Given the description of an element on the screen output the (x, y) to click on. 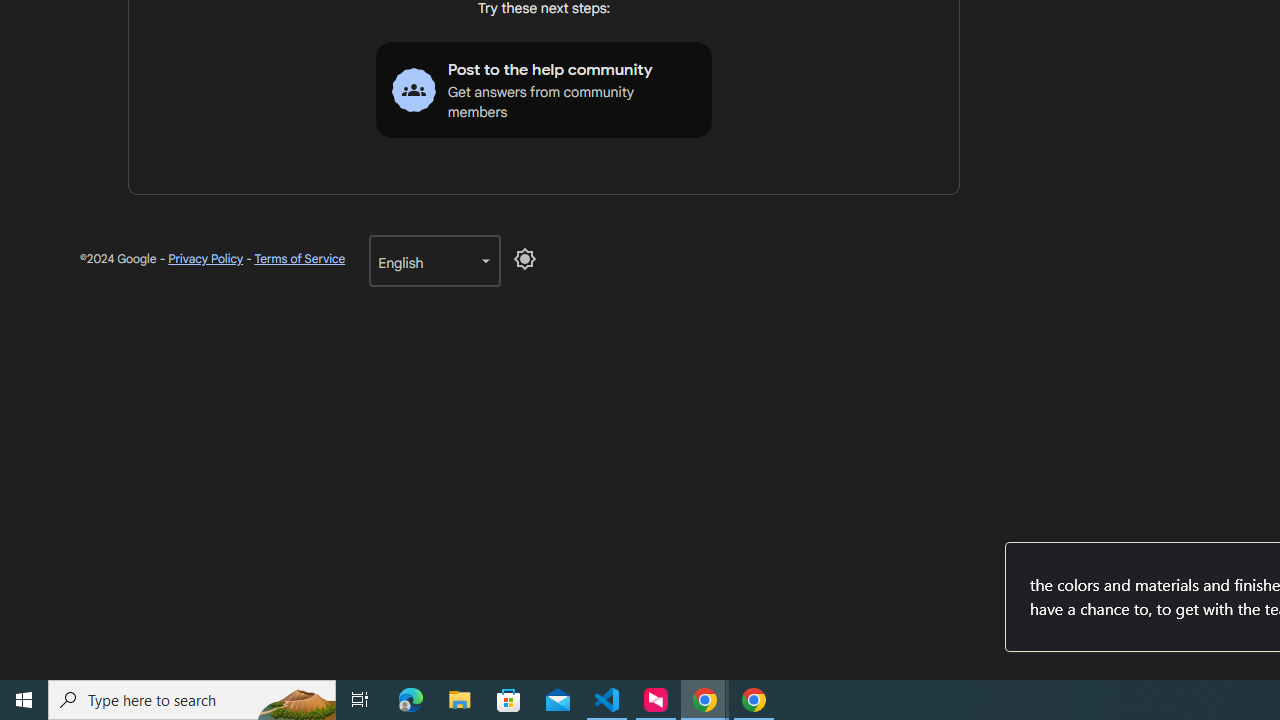
Terms of Service (299, 259)
Disable Dark Mode (525, 258)
Privacy Policy (205, 259)
